Given the description of an element on the screen output the (x, y) to click on. 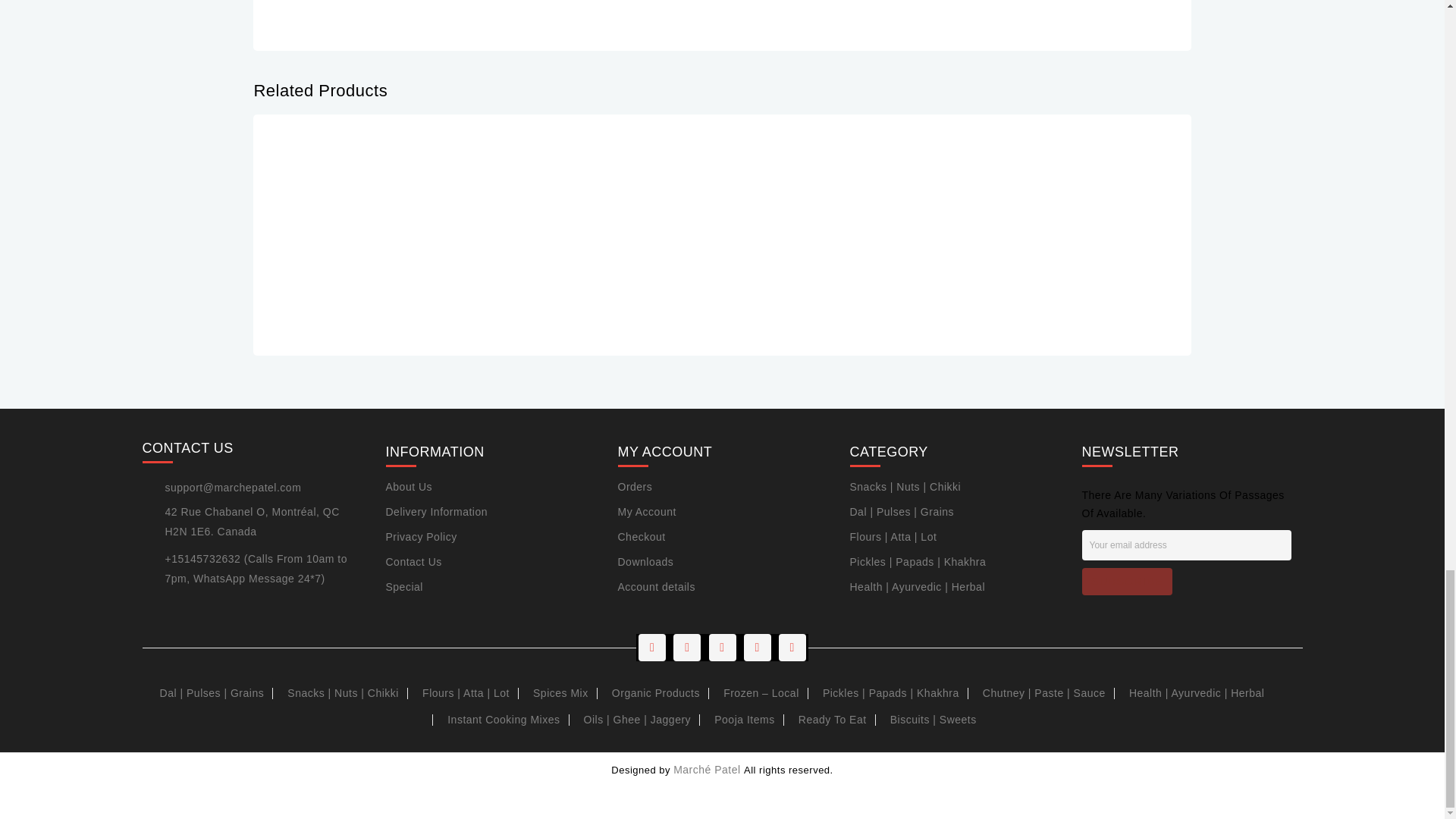
Not yet rated (538, 169)
Subscribe (1126, 581)
Not yet rated (308, 169)
